Given the description of an element on the screen output the (x, y) to click on. 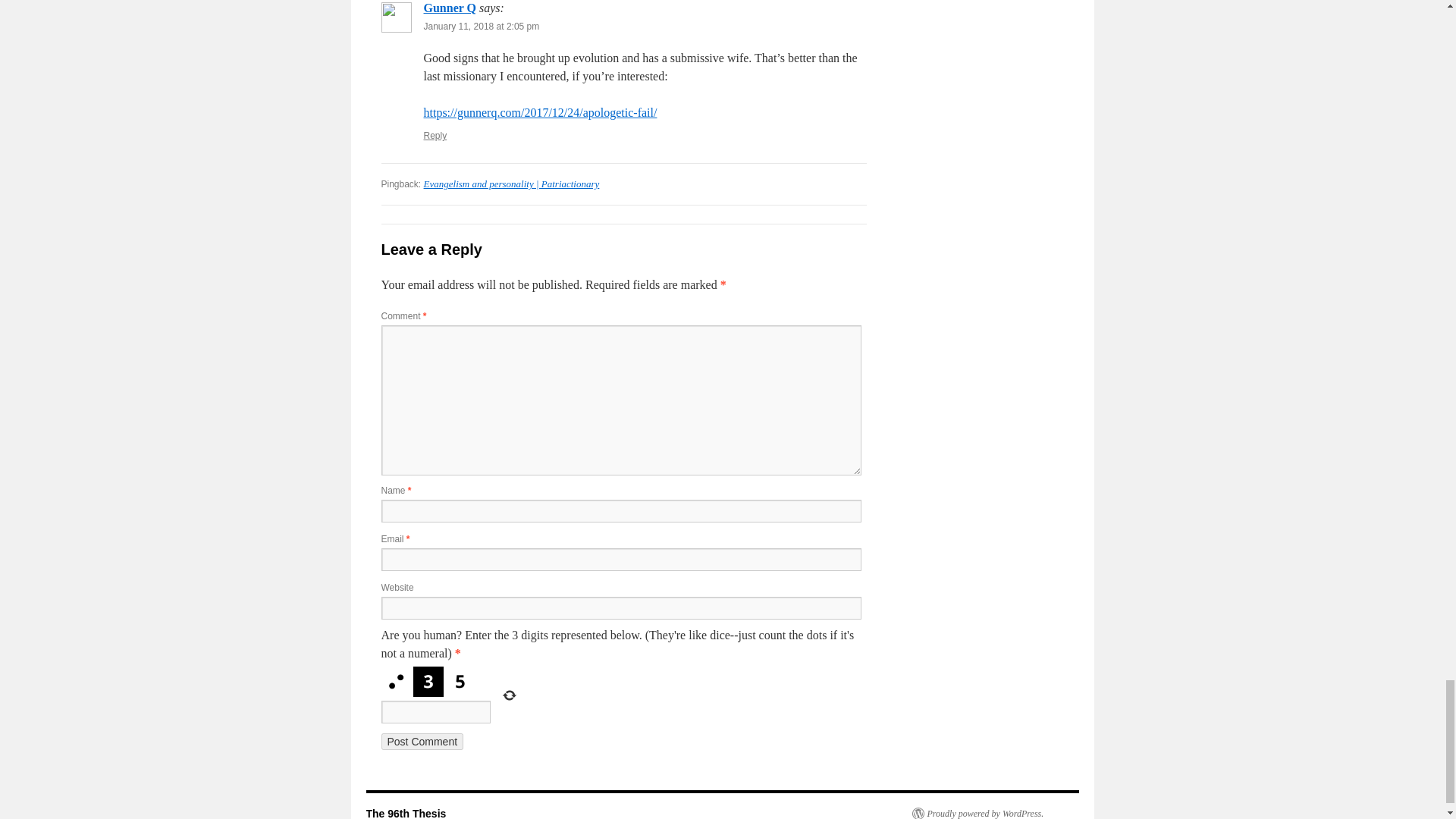
Gunner Q (449, 7)
January 11, 2018 at 2:05 pm (480, 26)
Post Comment (421, 741)
Reply (434, 135)
Post Comment (421, 741)
